Given the description of an element on the screen output the (x, y) to click on. 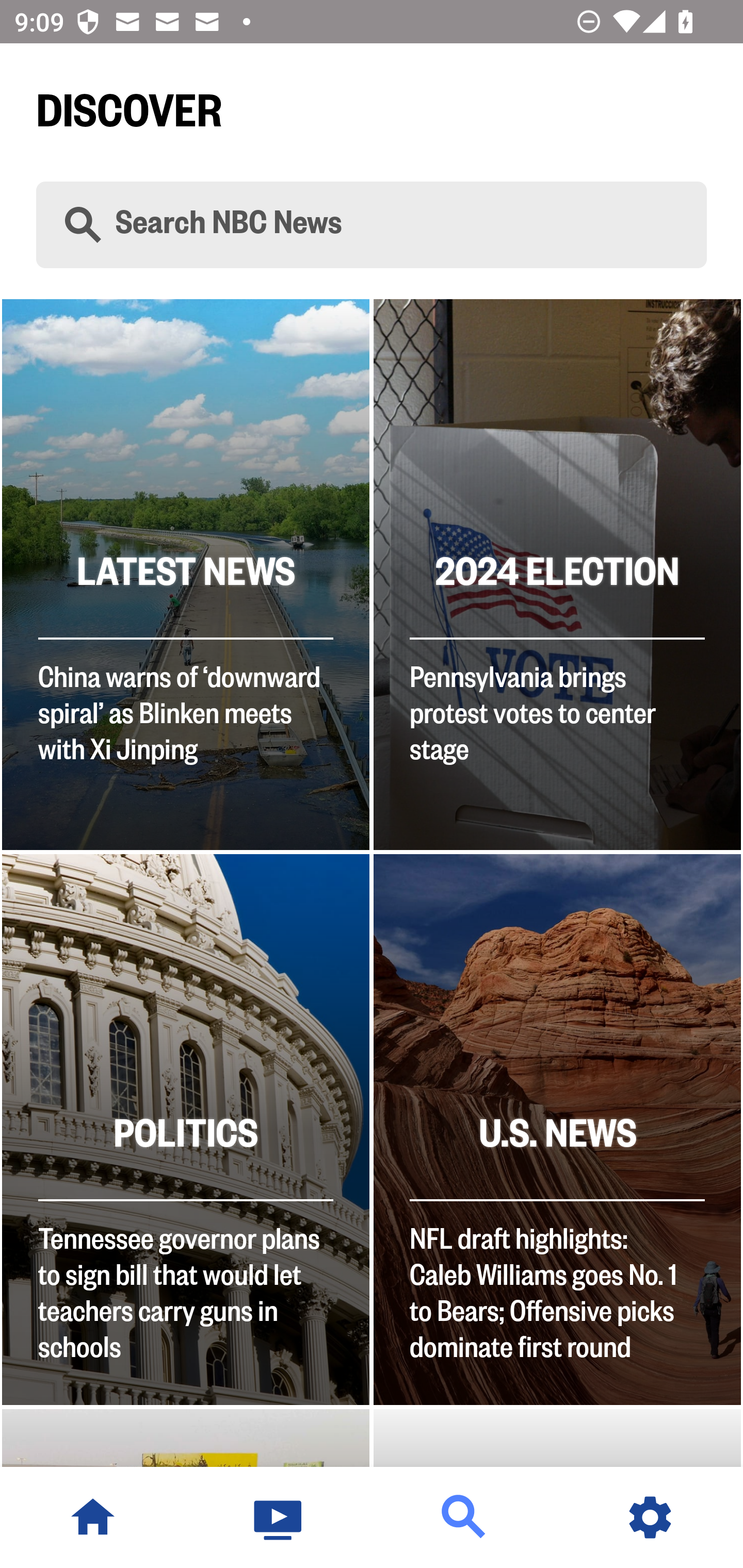
NBC News Home (92, 1517)
Watch (278, 1517)
Settings (650, 1517)
